Given the description of an element on the screen output the (x, y) to click on. 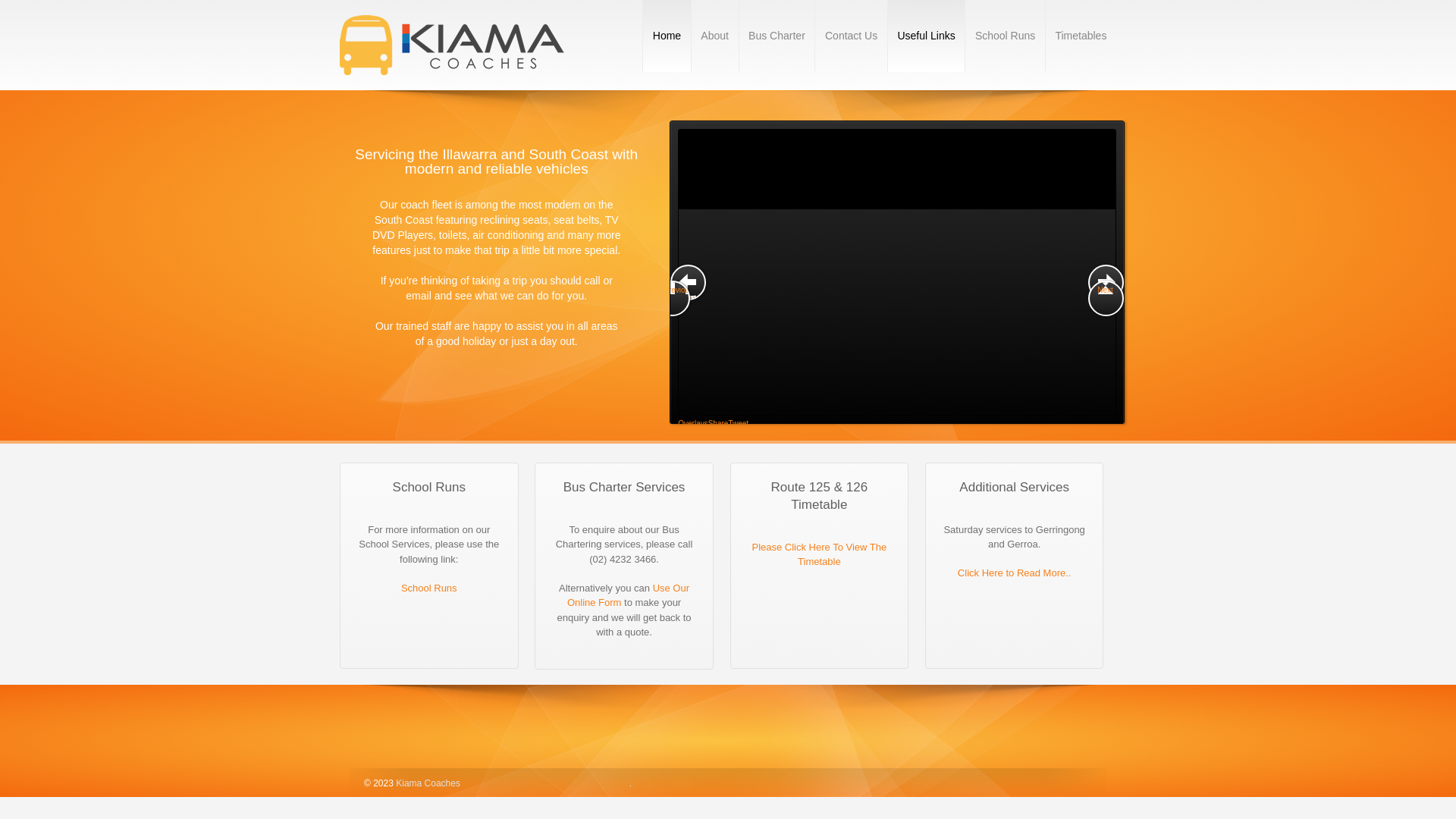
Previous Element type: text (672, 298)
Previous Element type: text (688, 281)
. Element type: text (630, 782)
Please Click Here To View The Timetable Element type: text (818, 554)
Kiama Coaches Element type: text (426, 783)
Overlays Element type: text (692, 423)
Home Element type: text (666, 36)
Timetables Element type: text (1080, 36)
School Runs Element type: text (429, 587)
Click Here to Read More.. Element type: text (1014, 572)
Bus Charter Element type: text (776, 36)
Use Our Online Form Element type: text (628, 595)
Next Element type: text (1105, 298)
About Element type: text (714, 36)
Useful Links Element type: text (925, 36)
Contact Us Element type: text (850, 36)
Tweet Element type: text (738, 423)
School Runs Element type: text (1004, 36)
Next Element type: text (1105, 281)
Share Element type: text (718, 423)
